Given the description of an element on the screen output the (x, y) to click on. 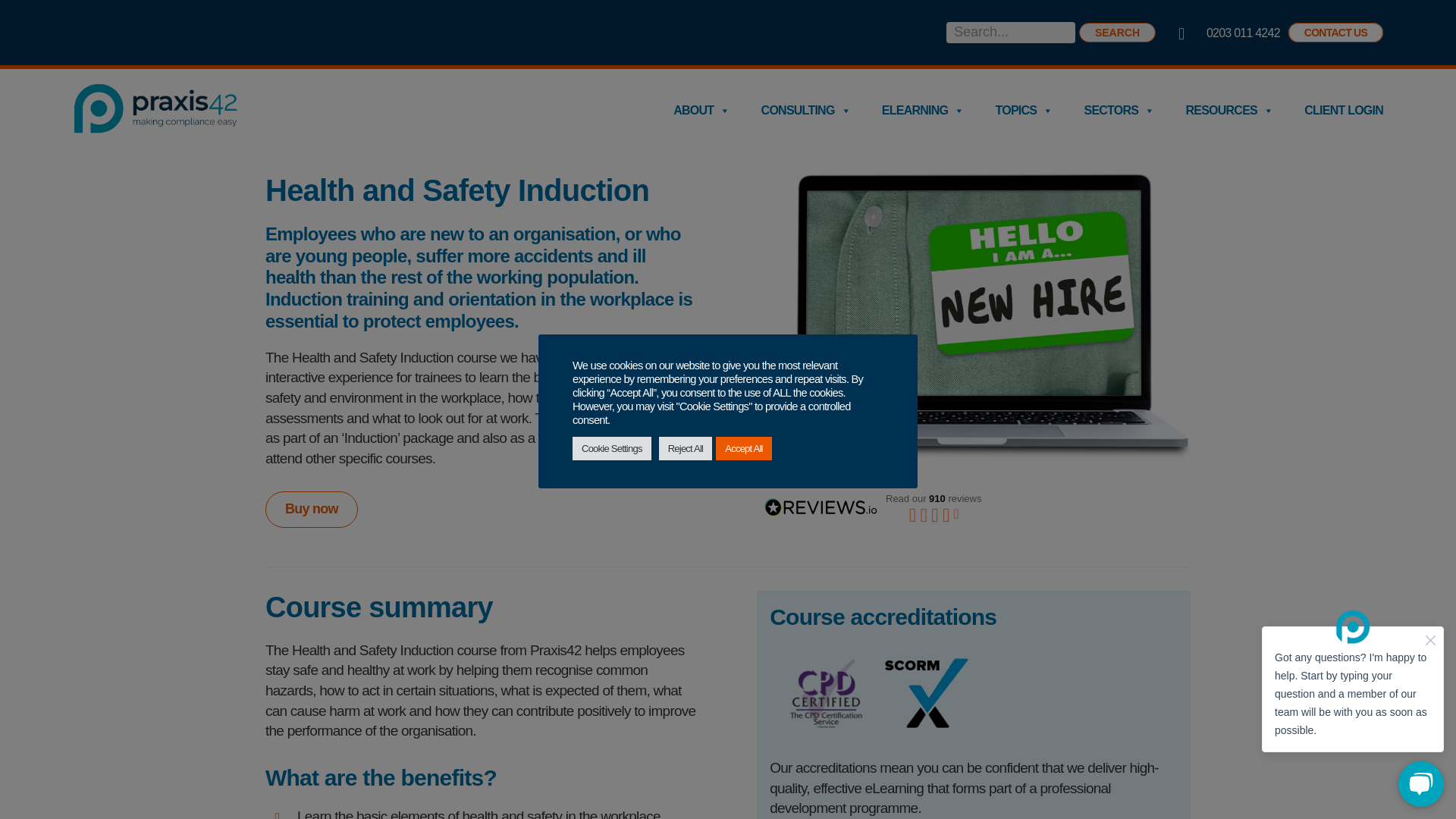
ABOUT (701, 110)
CONSULTING (805, 110)
Search (1117, 32)
CONTACT US (1335, 32)
My Basket (1189, 33)
Search (1117, 32)
Reviews Badge Ribbon Widget (974, 507)
Search (1117, 32)
0203 011 4242 (1243, 32)
